Given the description of an element on the screen output the (x, y) to click on. 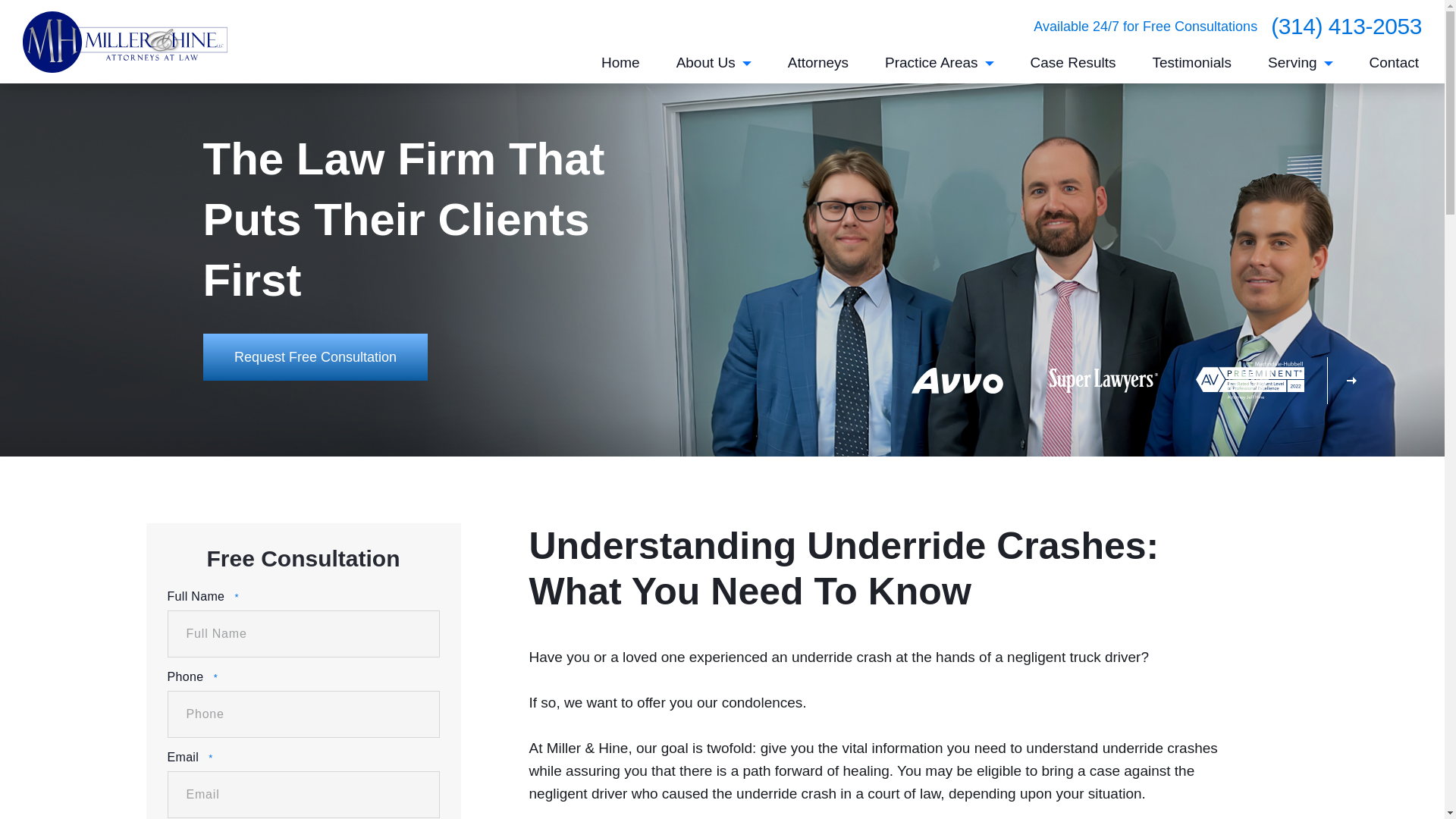
Home (620, 68)
Serving (1300, 68)
About Us (714, 68)
Practice Areas (939, 68)
Attorneys (817, 68)
Testimonials (1192, 68)
Case Results (1073, 68)
